Given the description of an element on the screen output the (x, y) to click on. 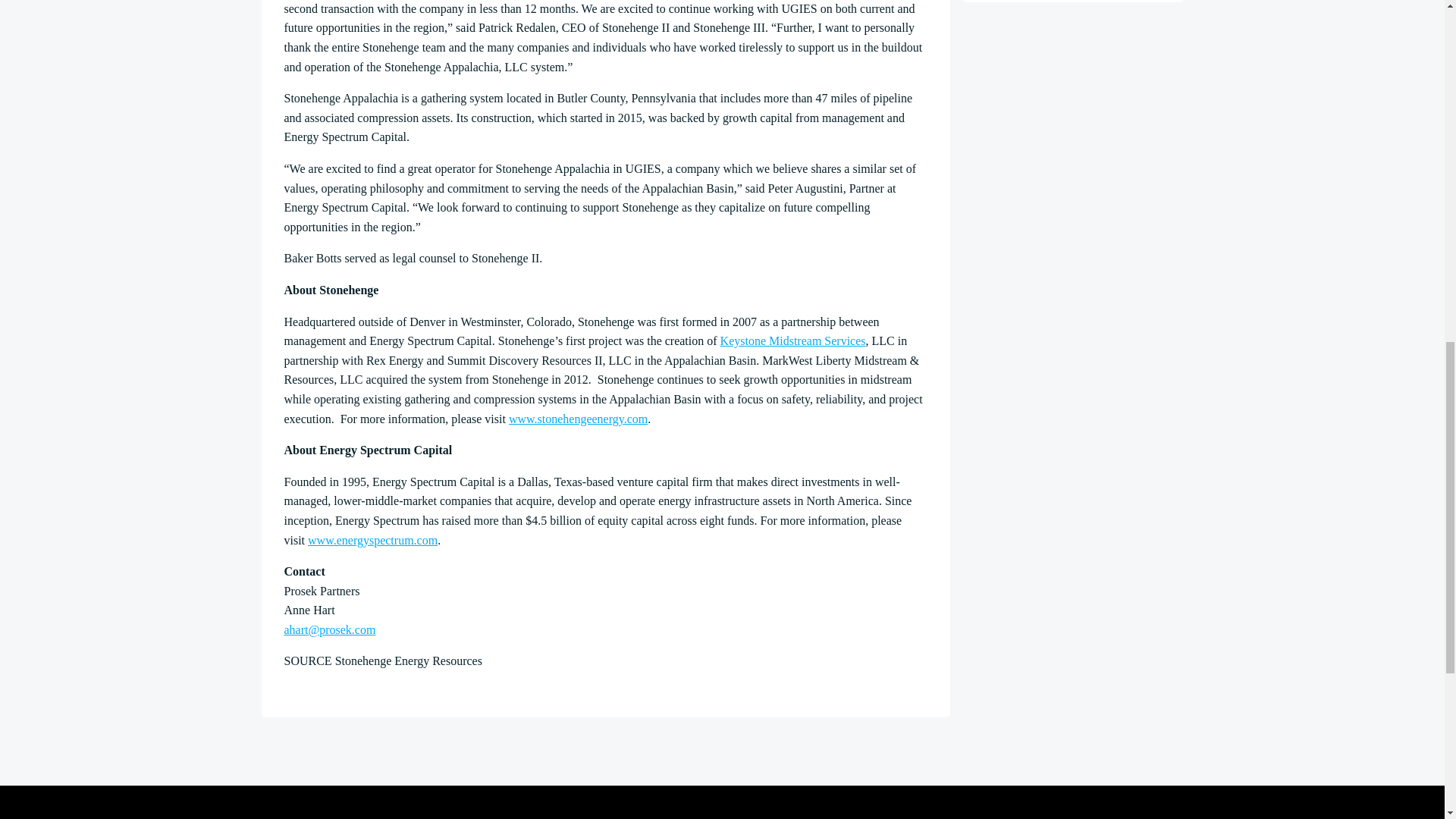
www.stonehengeenergy.com (577, 418)
www.energyspectrum.com (372, 540)
Keystone Midstream Services (793, 340)
